Given the description of an element on the screen output the (x, y) to click on. 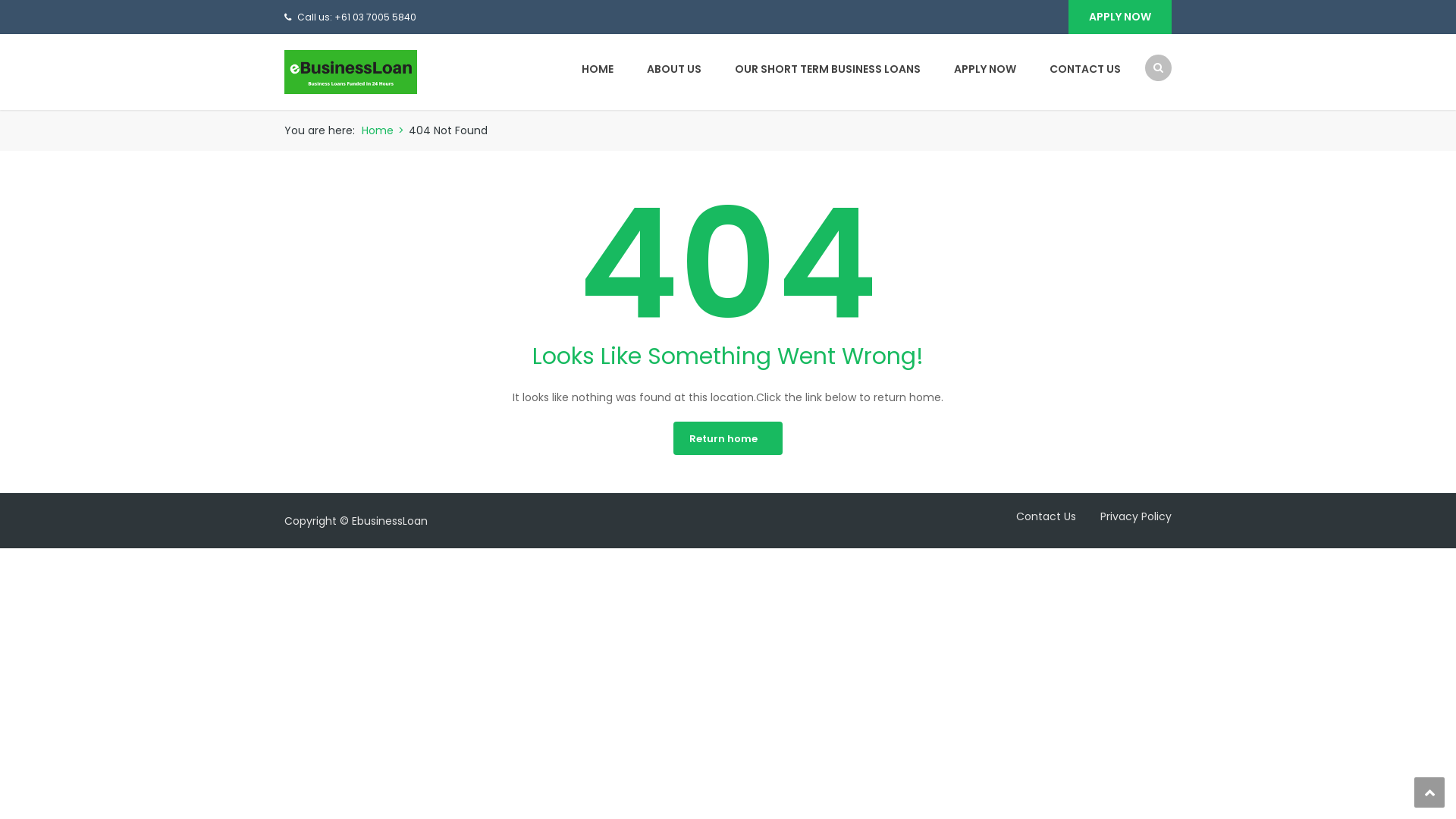
OUR SHORT TERM BUSINESS LOANS Element type: text (827, 68)
Contact Us Element type: text (1035, 516)
APPLY NOW Element type: text (984, 68)
Search Element type: text (1151, 126)
ABOUT US Element type: text (673, 68)
CONTACT US Element type: text (1077, 68)
APPLY NOW Element type: text (1119, 17)
Home Element type: text (377, 130)
Ebusinessloan Element type: hover (350, 70)
Return home Element type: text (727, 438)
HOME Element type: text (597, 68)
Privacy Policy Element type: text (1125, 516)
